Given the description of an element on the screen output the (x, y) to click on. 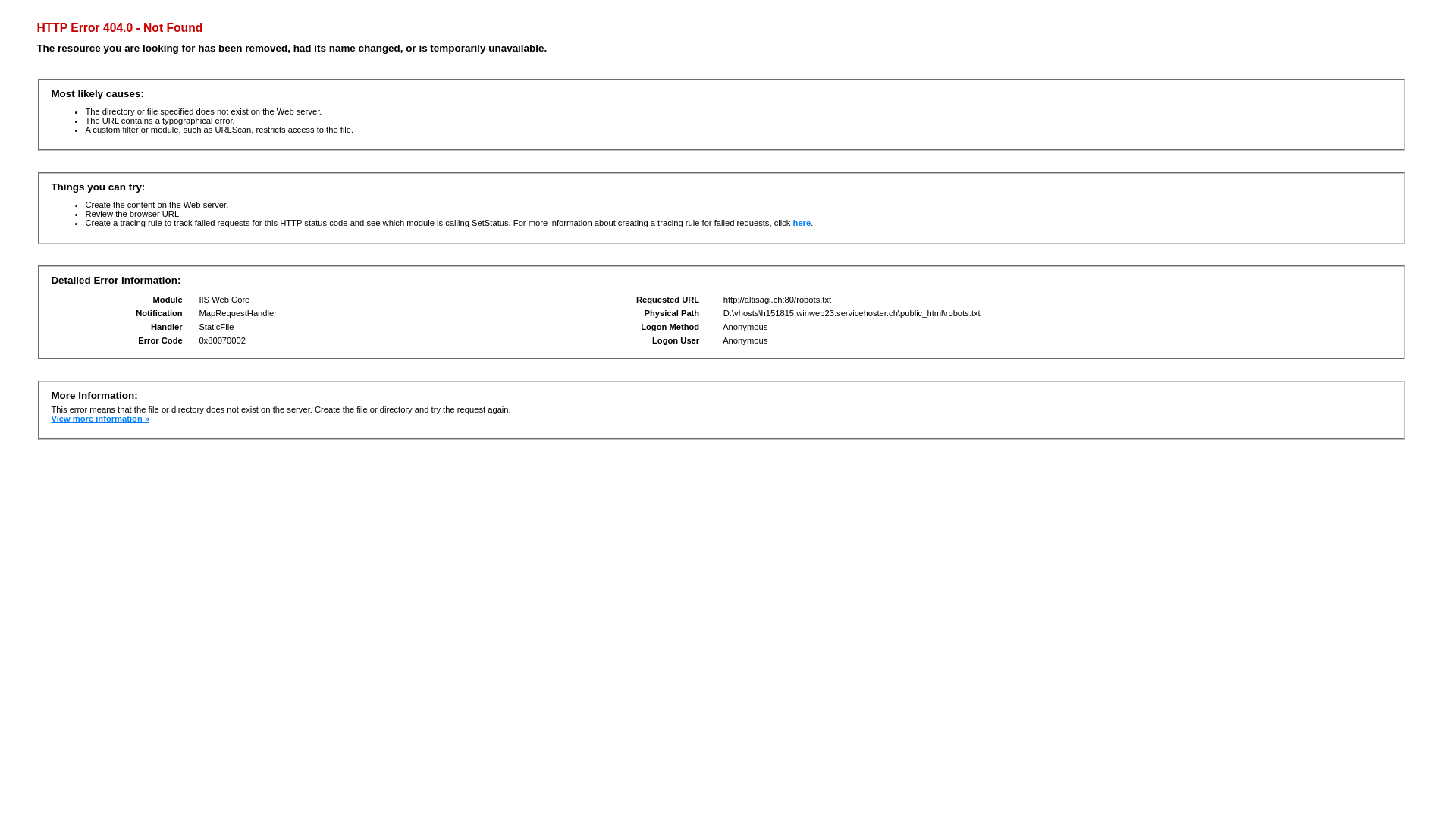
here Element type: text (802, 222)
